Given the description of an element on the screen output the (x, y) to click on. 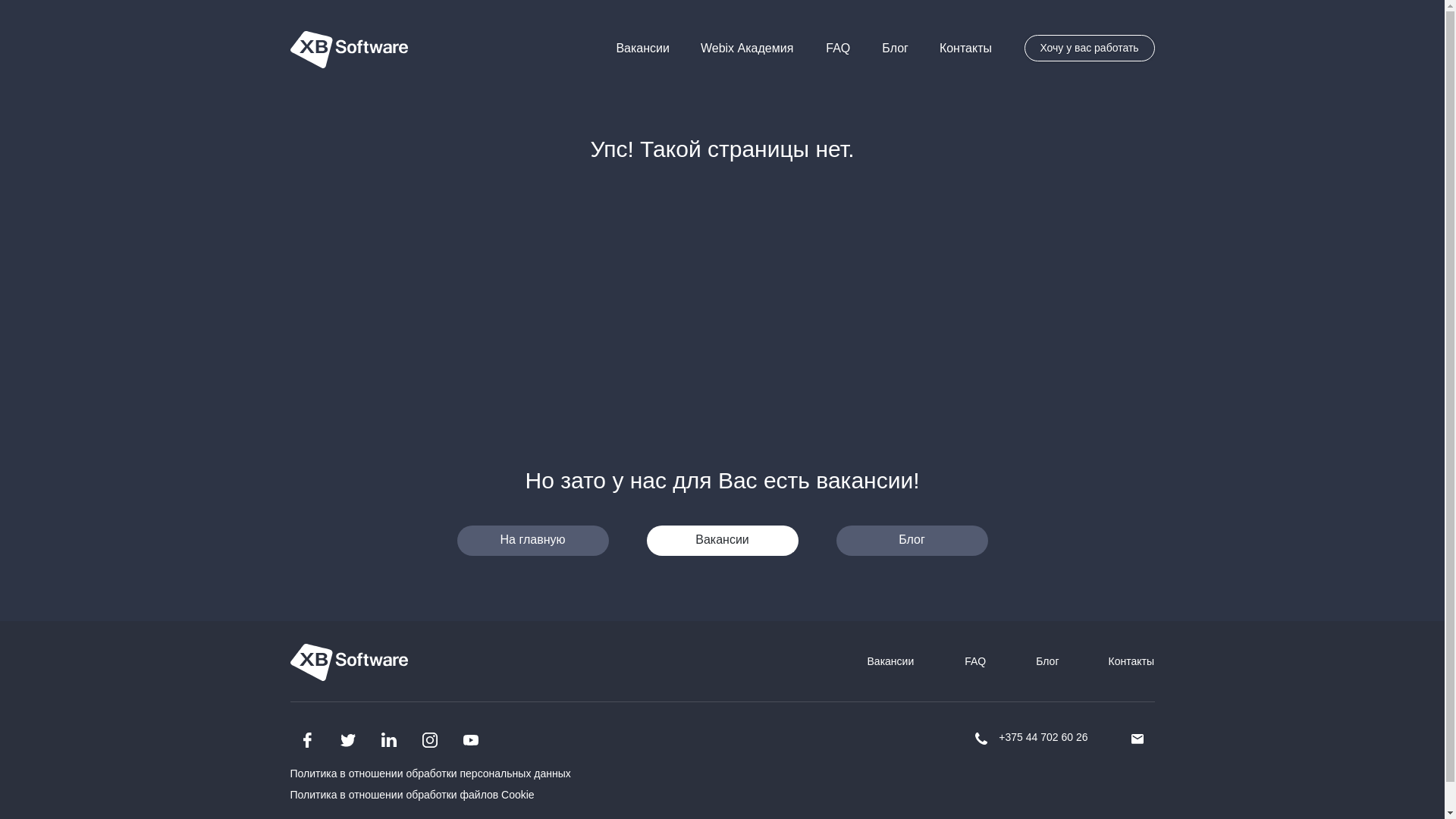
FAQ Element type: text (837, 47)
+375 44 702 60 26 Element type: text (1042, 737)
FAQ Element type: text (975, 661)
